Given the description of an element on the screen output the (x, y) to click on. 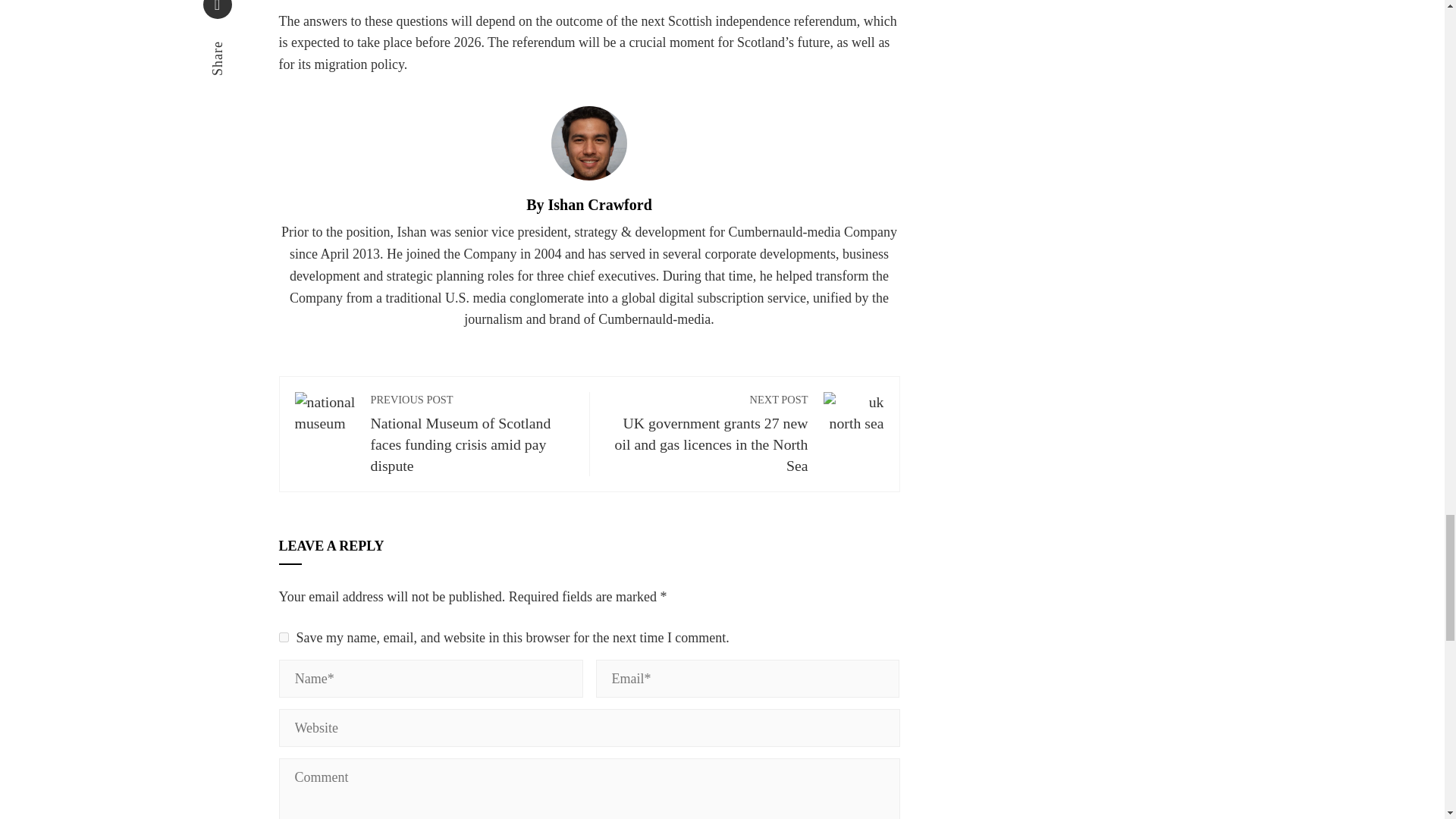
yes (283, 637)
